Given the description of an element on the screen output the (x, y) to click on. 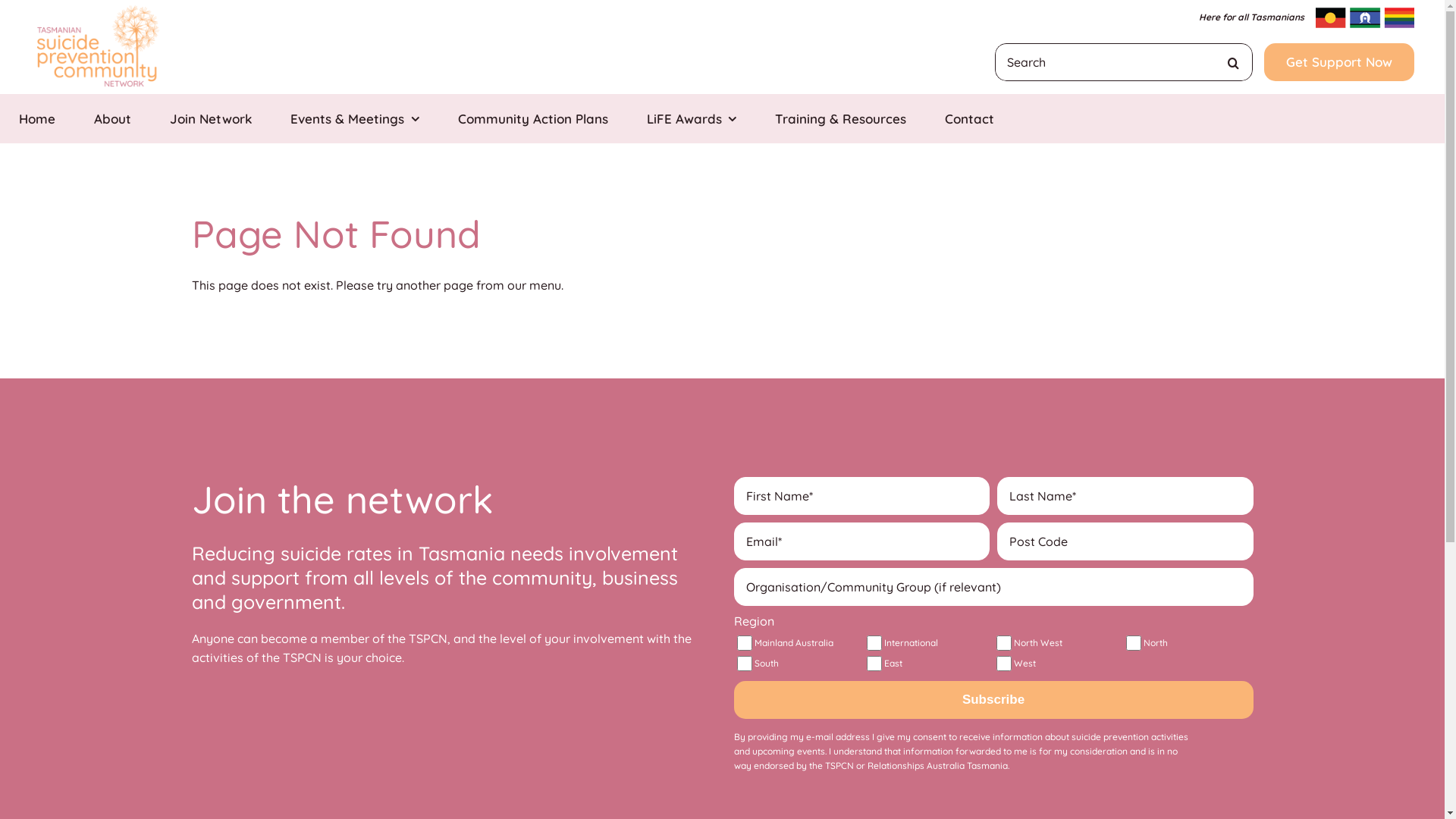
Events & Meetings Element type: text (354, 118)
Subscribe Element type: text (993, 699)
inclusive-flags Element type: hover (1364, 17)
Get Support Now Element type: text (1339, 62)
Join Network Element type: text (210, 118)
Community Action Plans Element type: text (532, 118)
LiFE Awards Element type: text (691, 118)
About Element type: text (112, 118)
Training & Resources Element type: text (840, 118)
Contact Element type: text (969, 118)
Home Element type: text (37, 118)
